Given the description of an element on the screen output the (x, y) to click on. 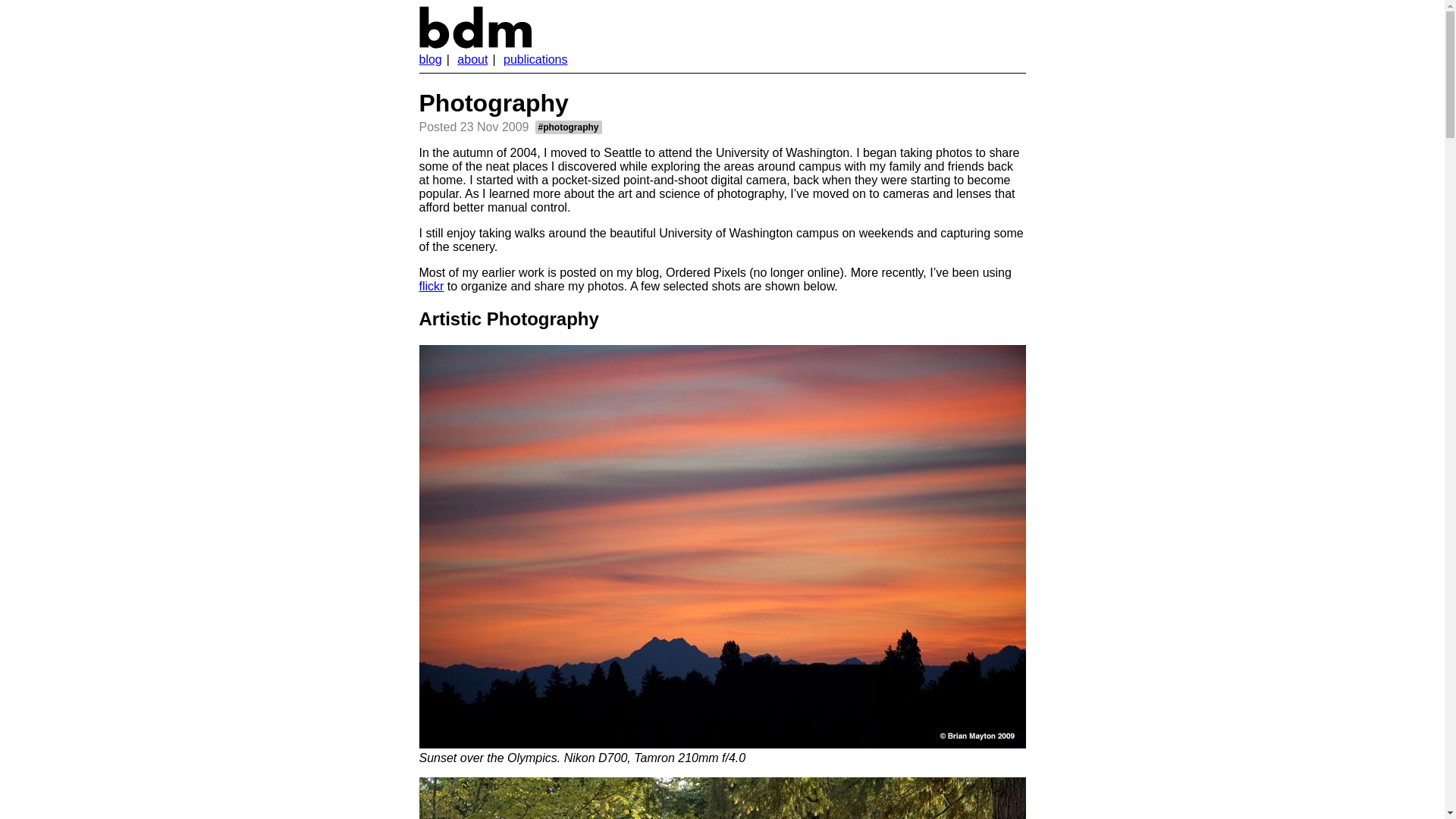
#photography Element type: text (568, 127)
flickr Element type: text (430, 285)
publications Element type: text (535, 59)
about Element type: text (472, 59)
blog Element type: text (429, 59)
